Given the description of an element on the screen output the (x, y) to click on. 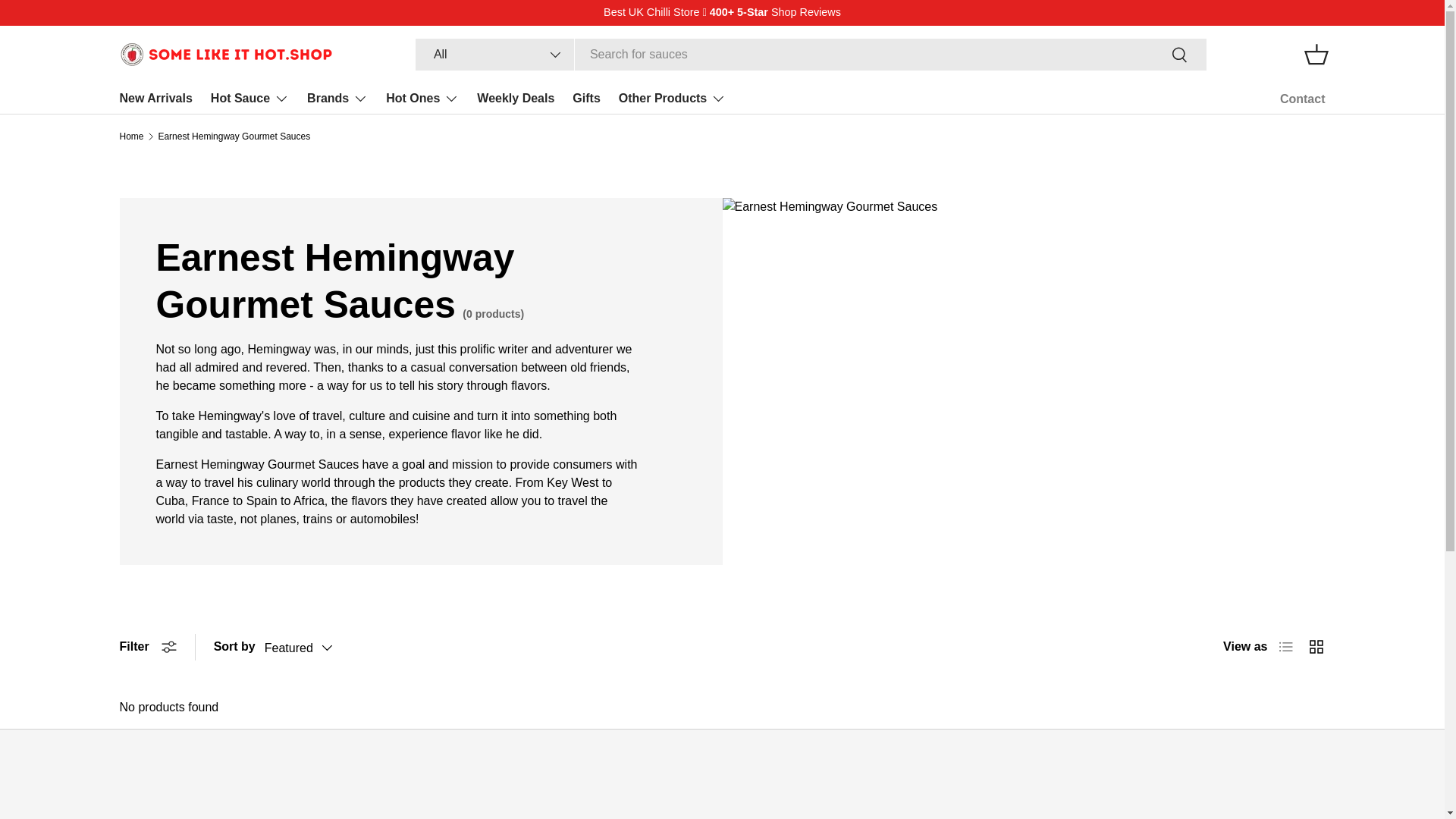
All (494, 54)
Search (1180, 55)
Hot Sauce (249, 98)
Brands (337, 98)
New Arrivals (155, 98)
SKIP TO CONTENT (69, 21)
Basket (1316, 54)
